Given the description of an element on the screen output the (x, y) to click on. 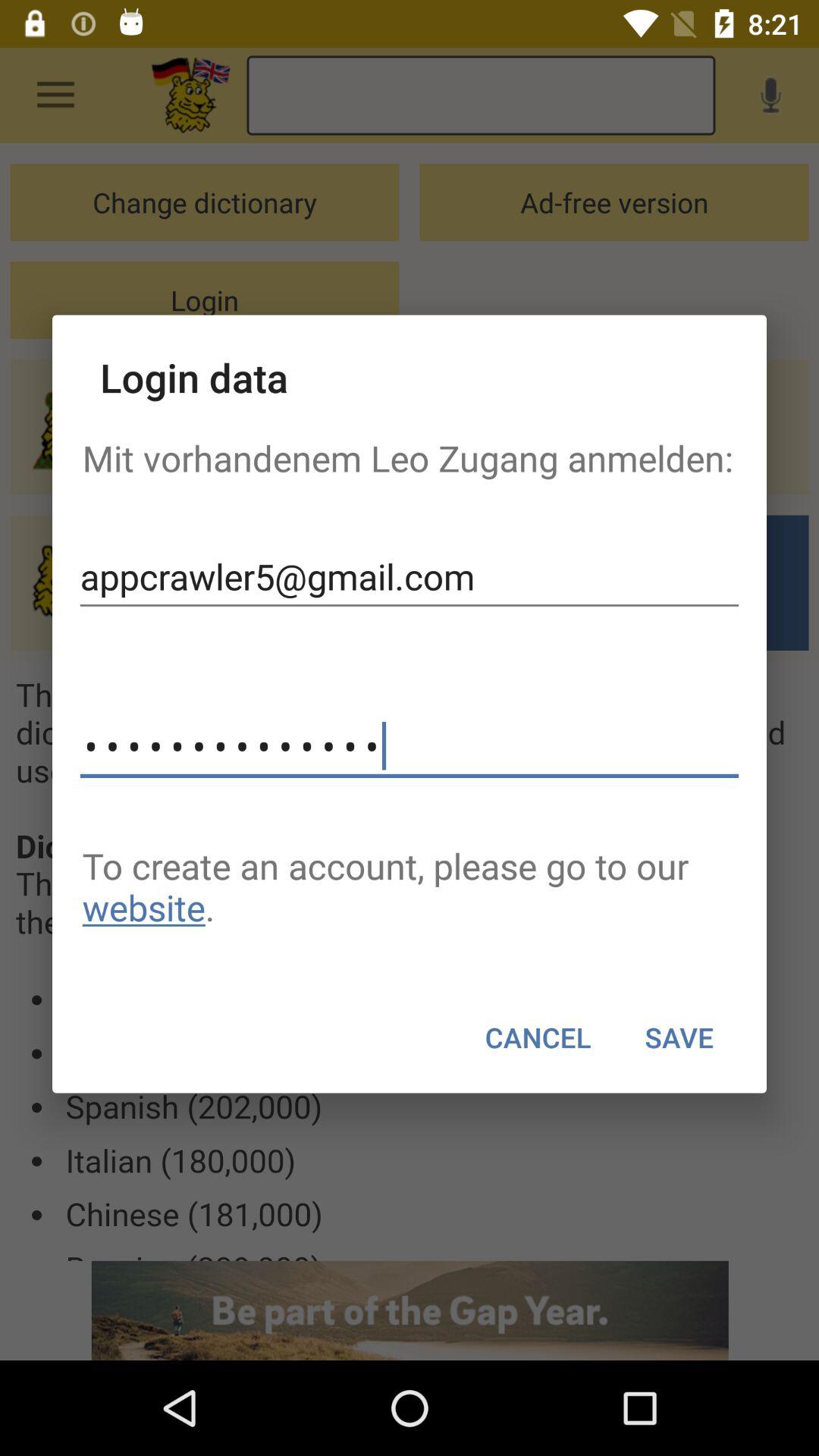
flip until the appcrawler3116 item (409, 746)
